Given the description of an element on the screen output the (x, y) to click on. 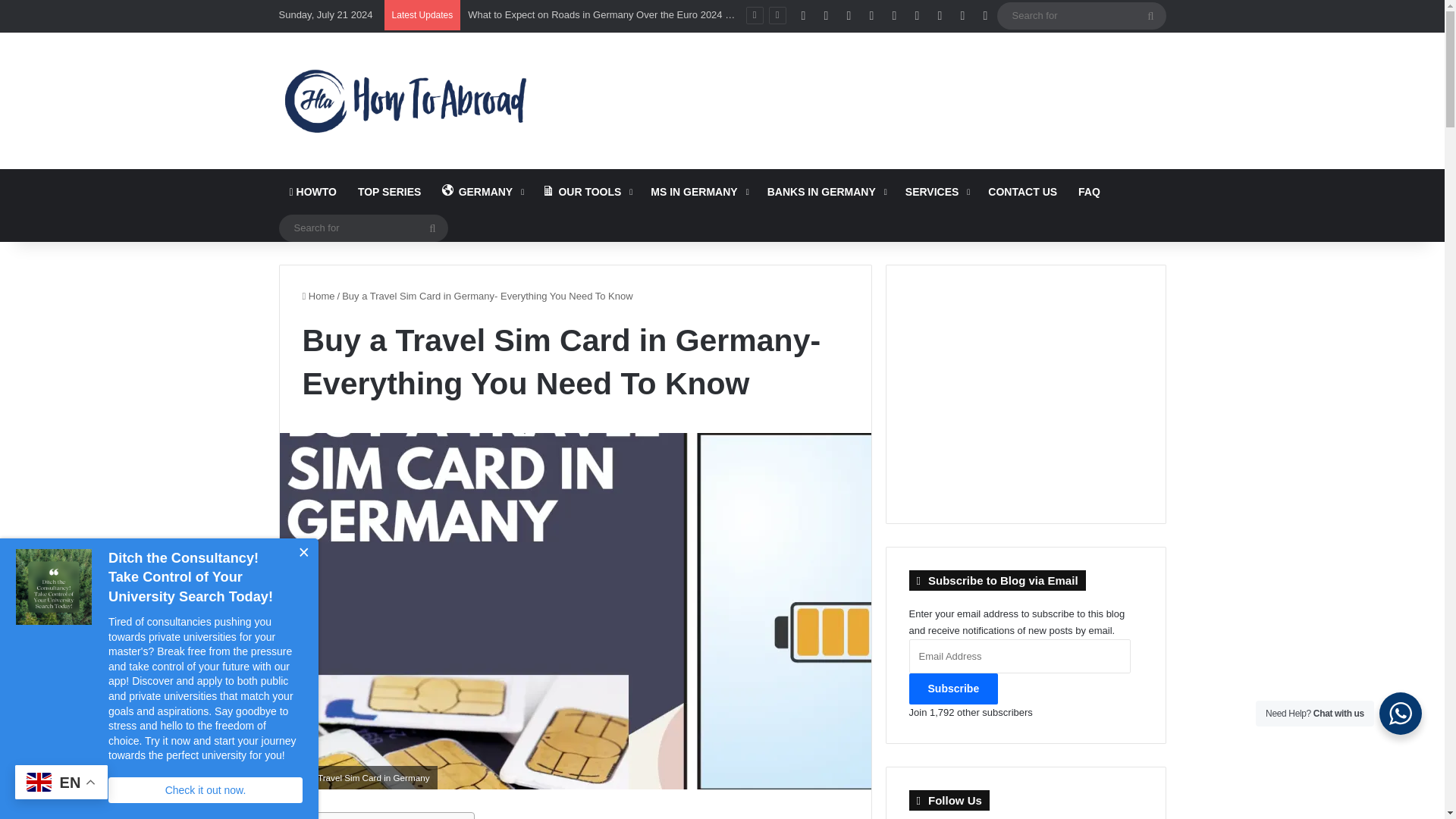
GERMANY (480, 191)
HOWTO (313, 191)
BANKS IN GERMANY (826, 191)
TOP SERIES (389, 191)
SERVICES (936, 191)
How to Abroad (405, 100)
Search for (363, 227)
Search for (1080, 15)
OUR TOOLS (585, 191)
MS IN GERMANY (697, 191)
